Given the description of an element on the screen output the (x, y) to click on. 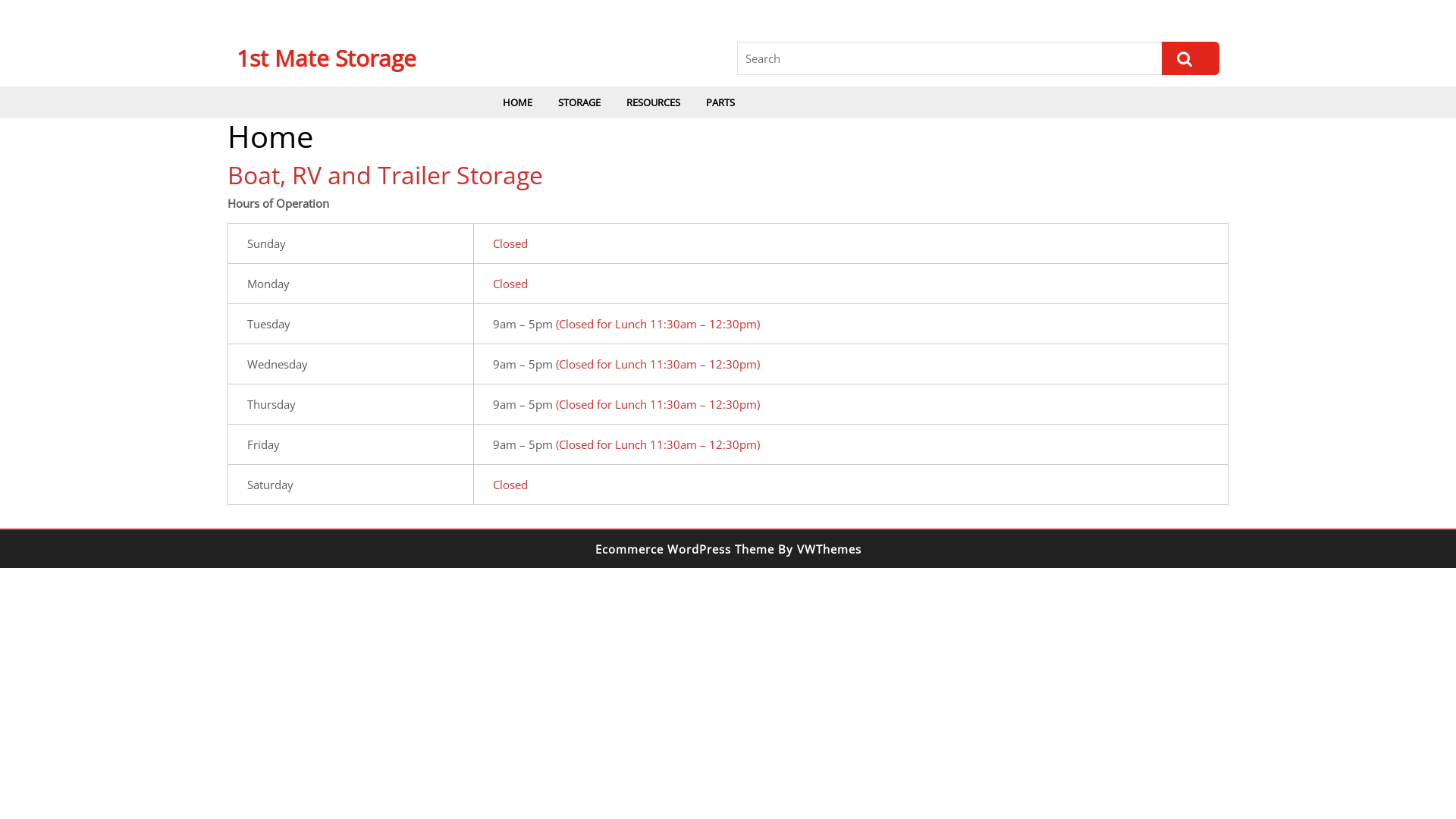
Search Element type: text (1190, 58)
STORAGE Element type: text (578, 102)
Ecommerce WordPress Theme Element type: text (683, 548)
RESOURCES Element type: text (653, 102)
1st Mate Storage Element type: text (326, 57)
HOME Element type: text (517, 102)
PARTS Element type: text (720, 102)
